Given the description of an element on the screen output the (x, y) to click on. 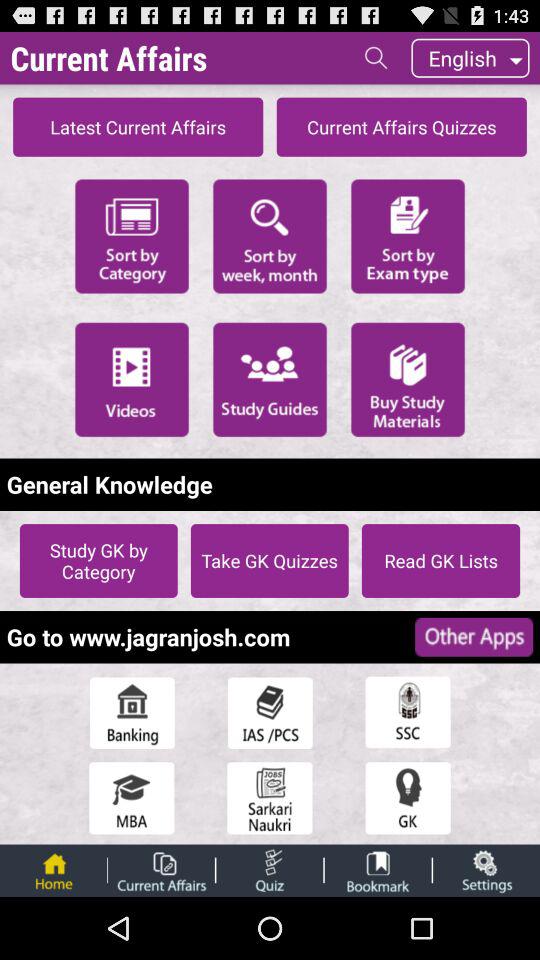
open current affairs (161, 870)
